Given the description of an element on the screen output the (x, y) to click on. 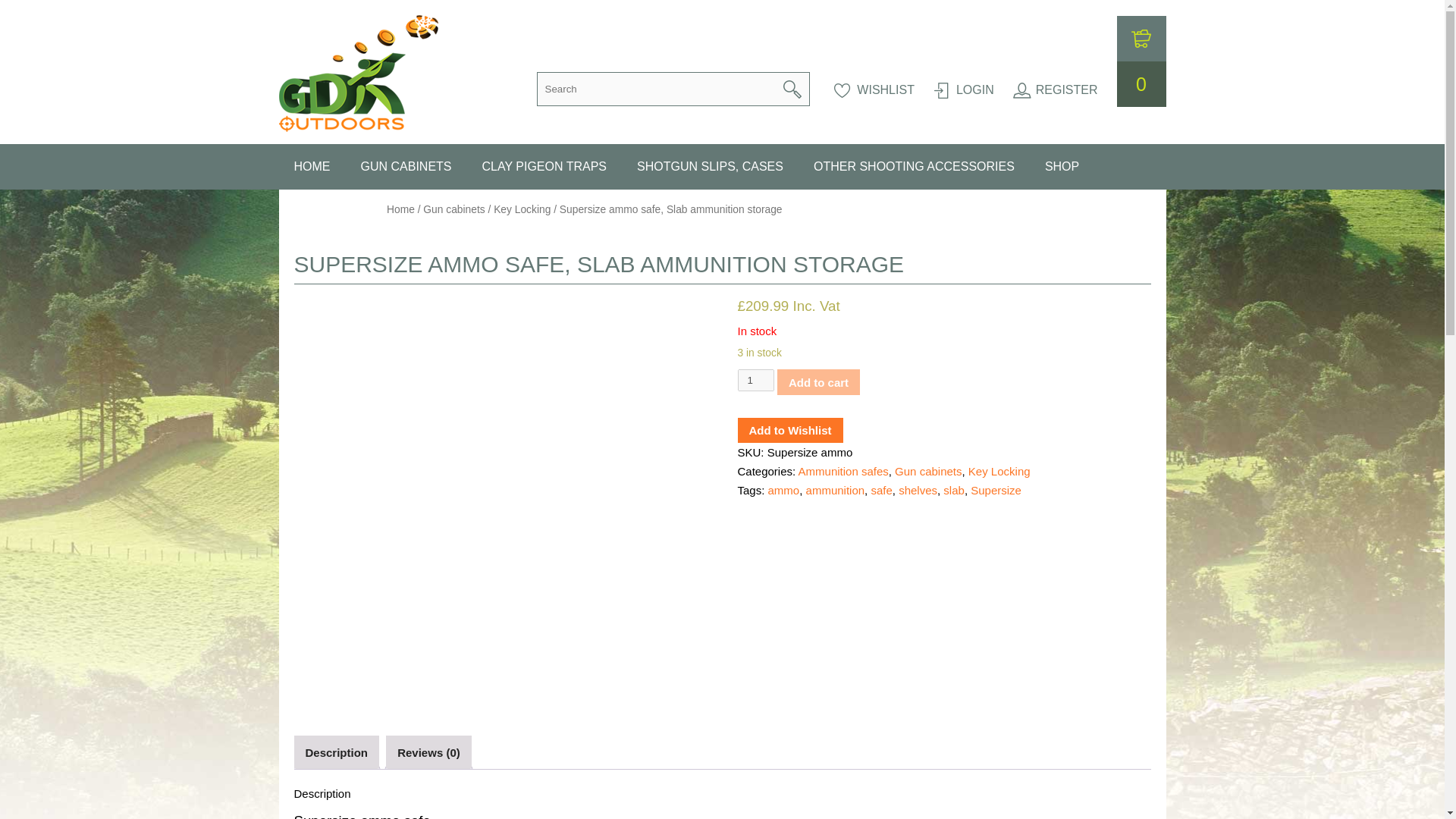
Home (400, 209)
LOGIN (963, 89)
Gun cabinets (453, 209)
SHOTGUN SLIPS, CASES (709, 166)
Search (791, 89)
REGISTER (1055, 89)
WISHLIST (874, 89)
Add to Wishlist (789, 430)
Add to cart (818, 381)
HOME (312, 166)
